Given the description of an element on the screen output the (x, y) to click on. 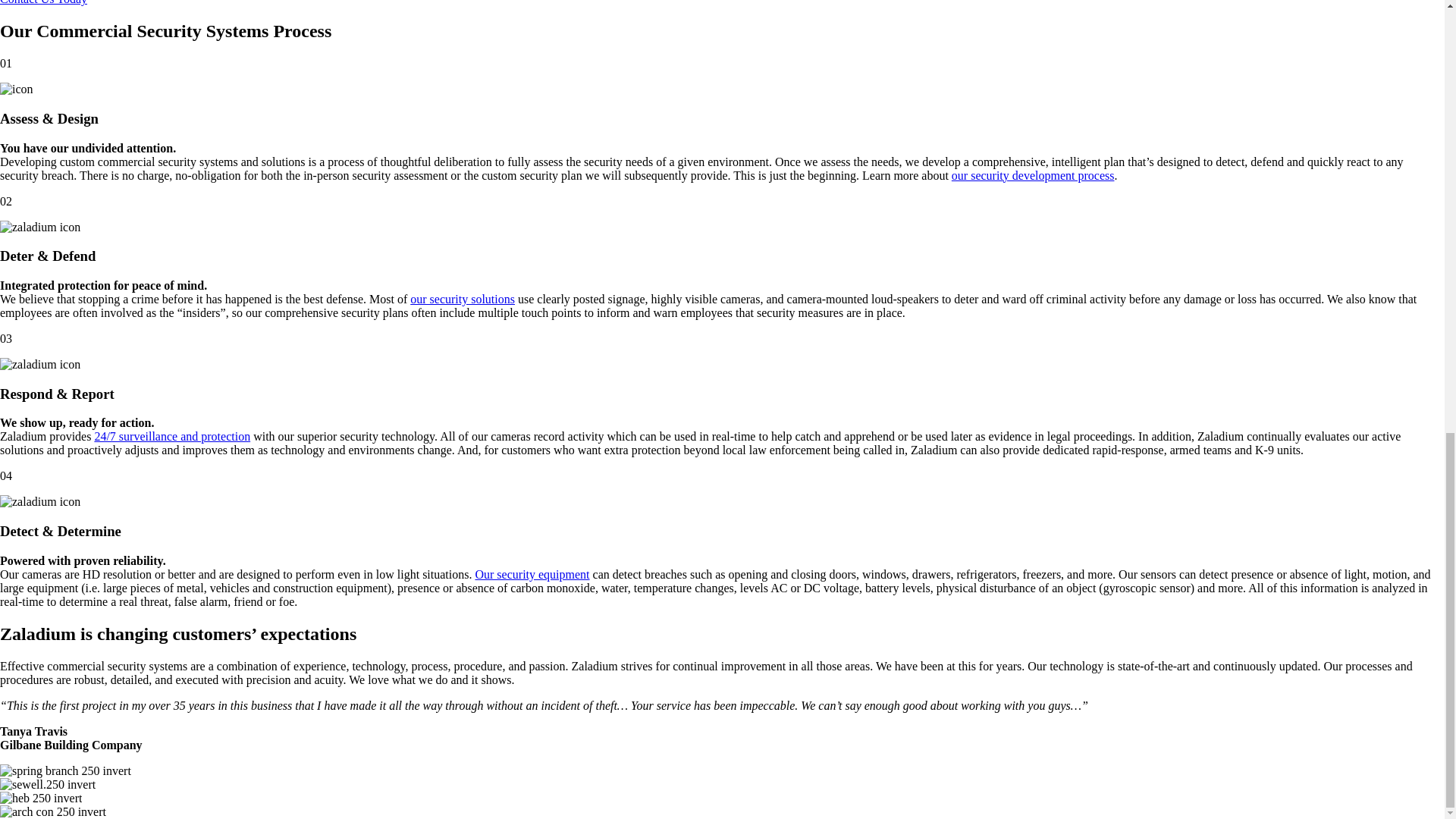
Our security equipment (531, 574)
our security development process (1033, 174)
our security solutions (462, 298)
Contact Us Today (43, 2)
